Given the description of an element on the screen output the (x, y) to click on. 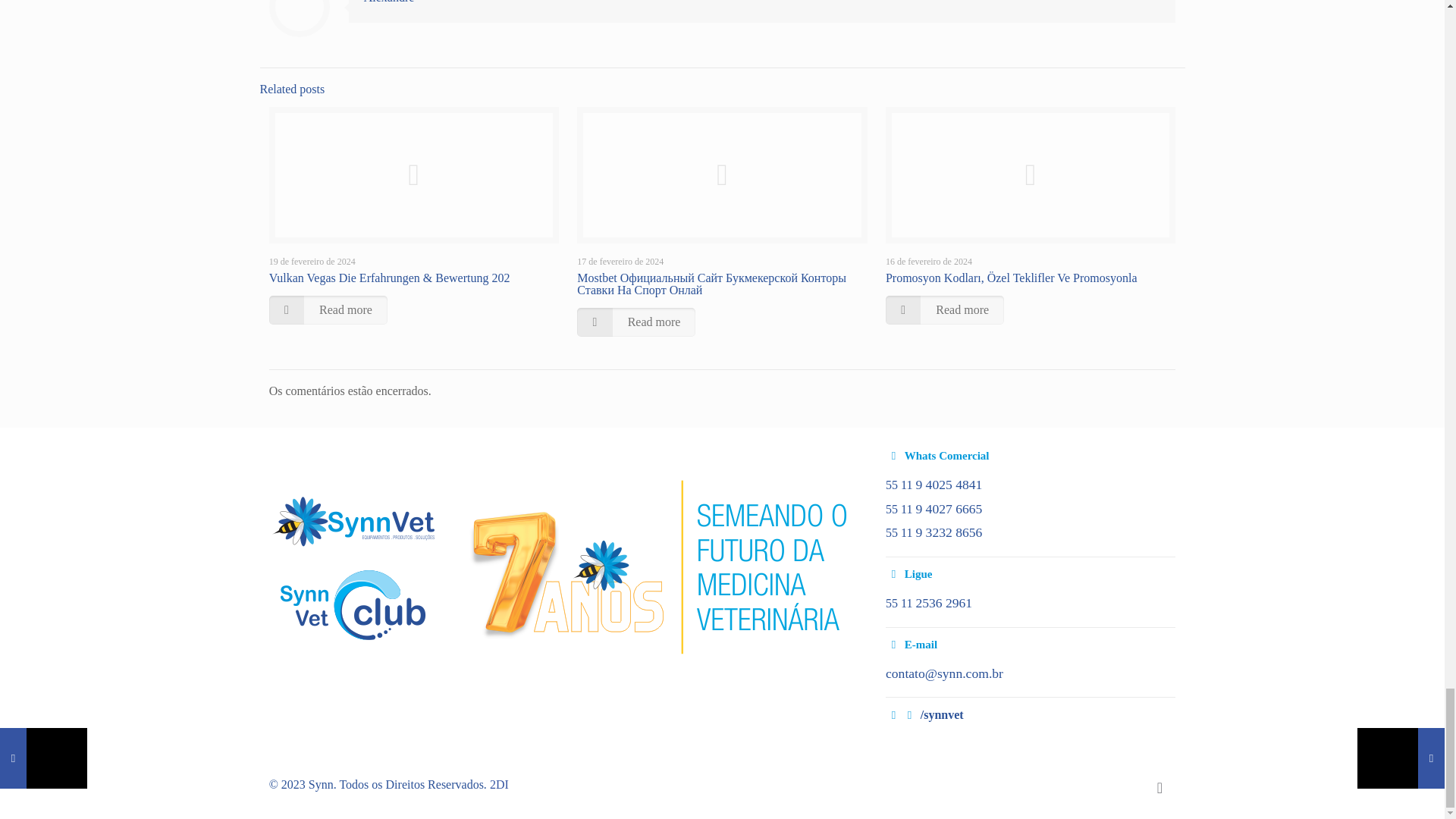
Facebook (1100, 784)
Instagram (1120, 784)
